Given the description of an element on the screen output the (x, y) to click on. 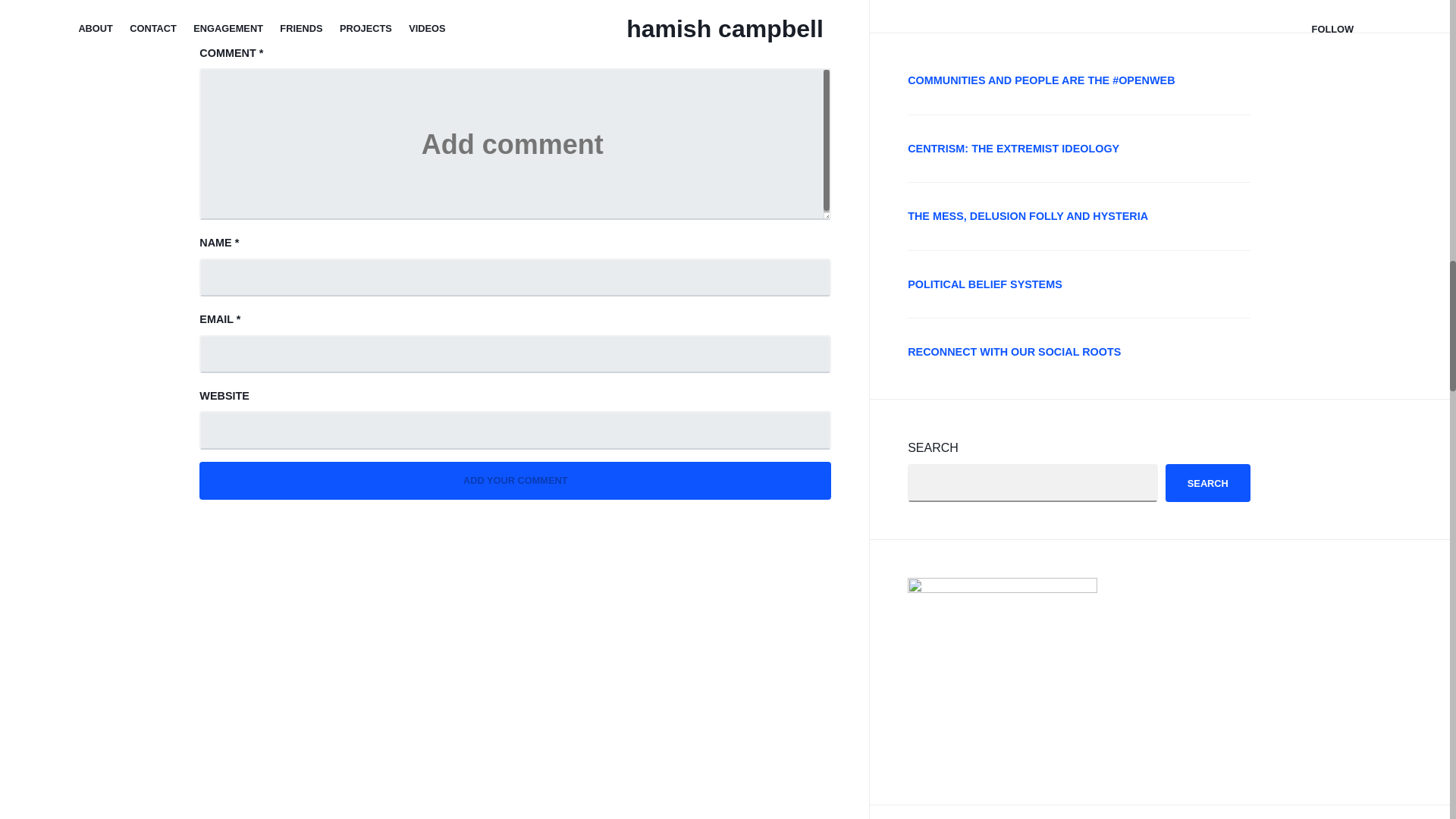
Add your comment (515, 480)
